Given the description of an element on the screen output the (x, y) to click on. 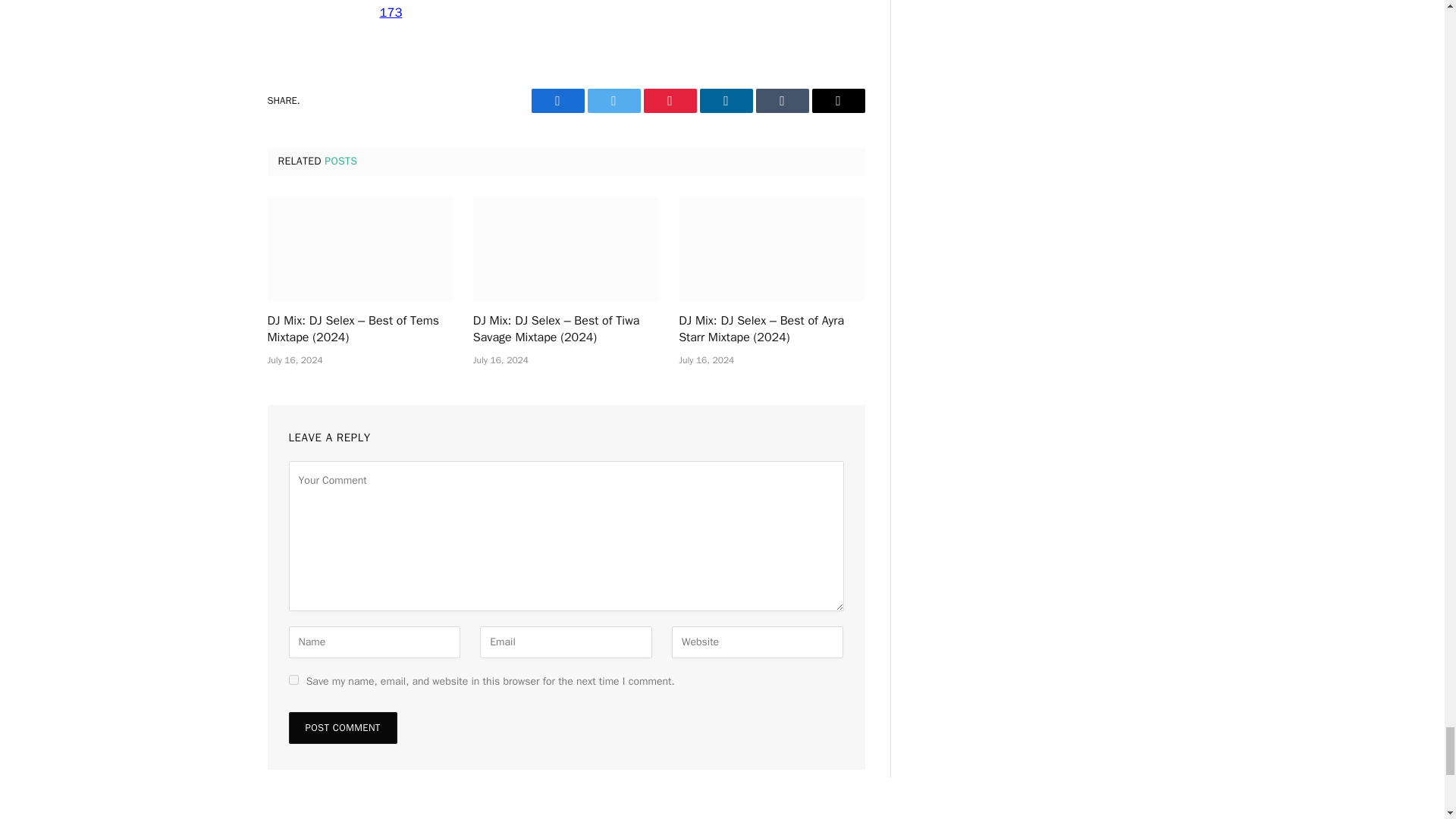
Post Comment (342, 727)
yes (293, 679)
